Given the description of an element on the screen output the (x, y) to click on. 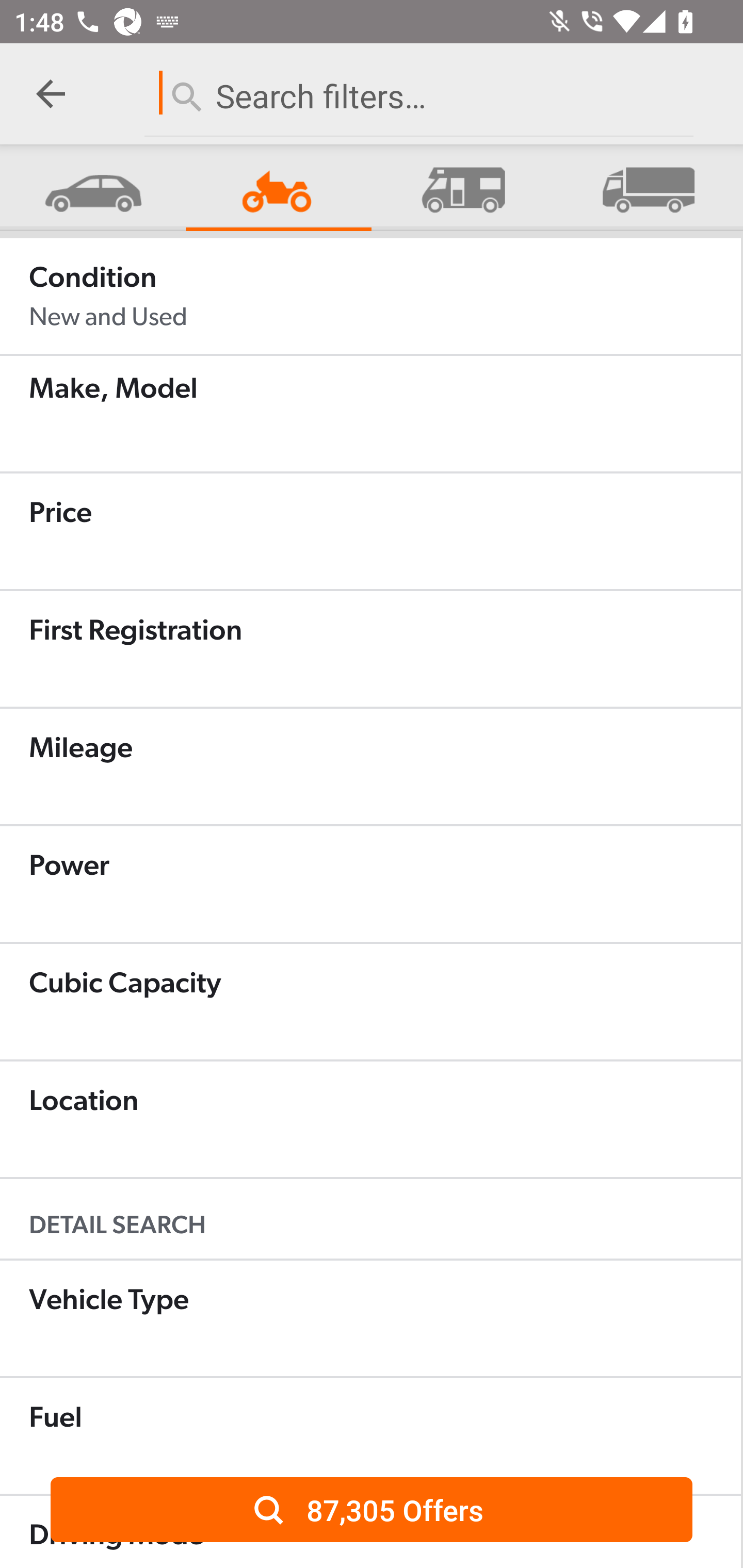
Collapse (50, 93)
   Search filters… (418, 92)
Condition New and Used (370, 296)
Make, Model (370, 413)
Price (370, 531)
First Registration (370, 649)
Mileage (370, 766)
Power (370, 884)
Cubic Capacity (370, 1001)
Location (370, 1119)
Vehicle Type (370, 1318)
Fuel (370, 1436)
87,305 Offers (371, 1509)
